Given the description of an element on the screen output the (x, y) to click on. 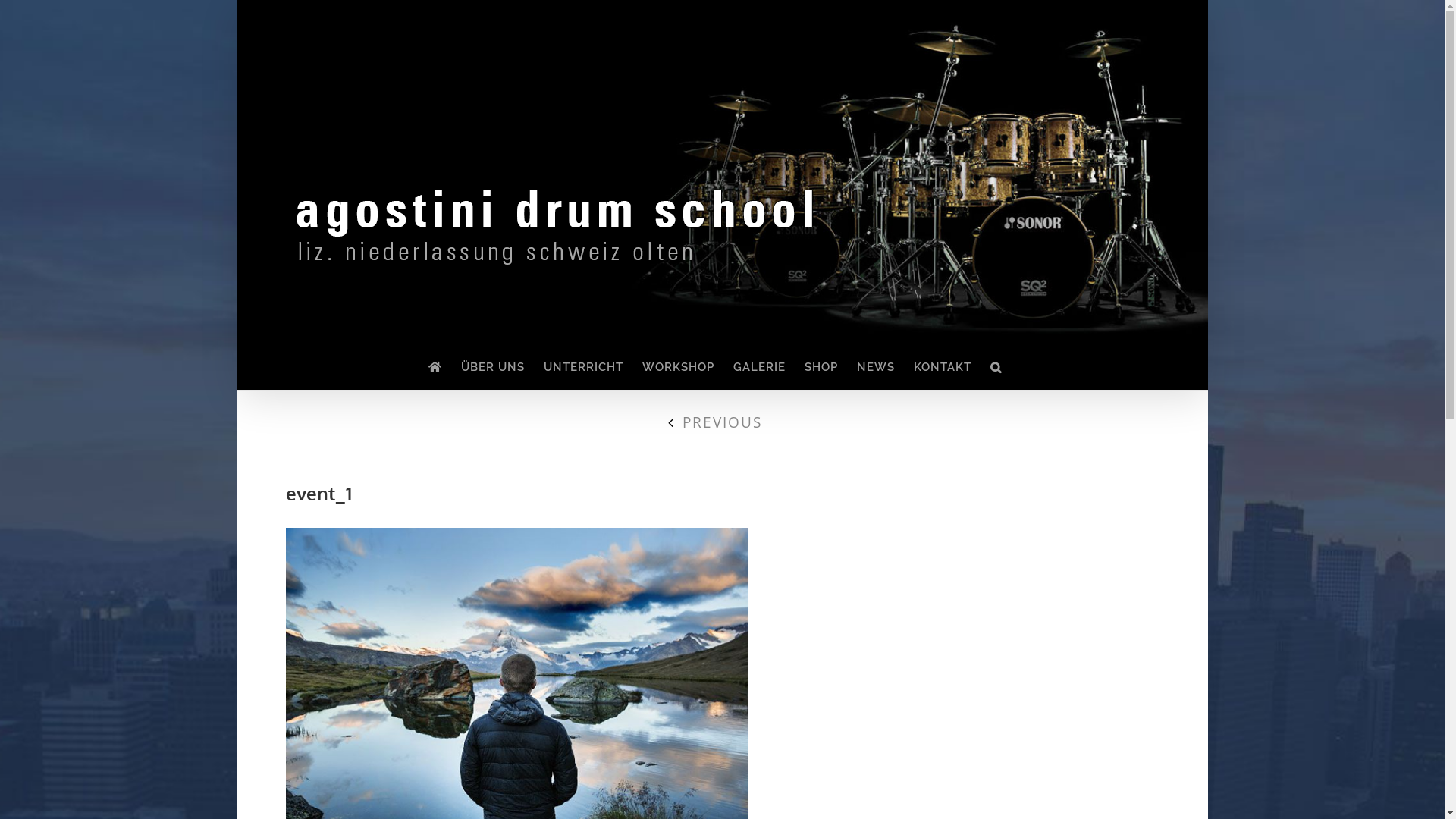
KONTAKT Element type: text (941, 366)
SHOP Element type: text (820, 366)
PREVIOUS Element type: text (722, 422)
Search Element type: hover (995, 366)
  Element type: text (433, 366)
GALERIE Element type: text (758, 366)
WORKSHOP Element type: text (677, 366)
NEWS Element type: text (875, 366)
UNTERRICHT Element type: text (582, 366)
